Given the description of an element on the screen output the (x, y) to click on. 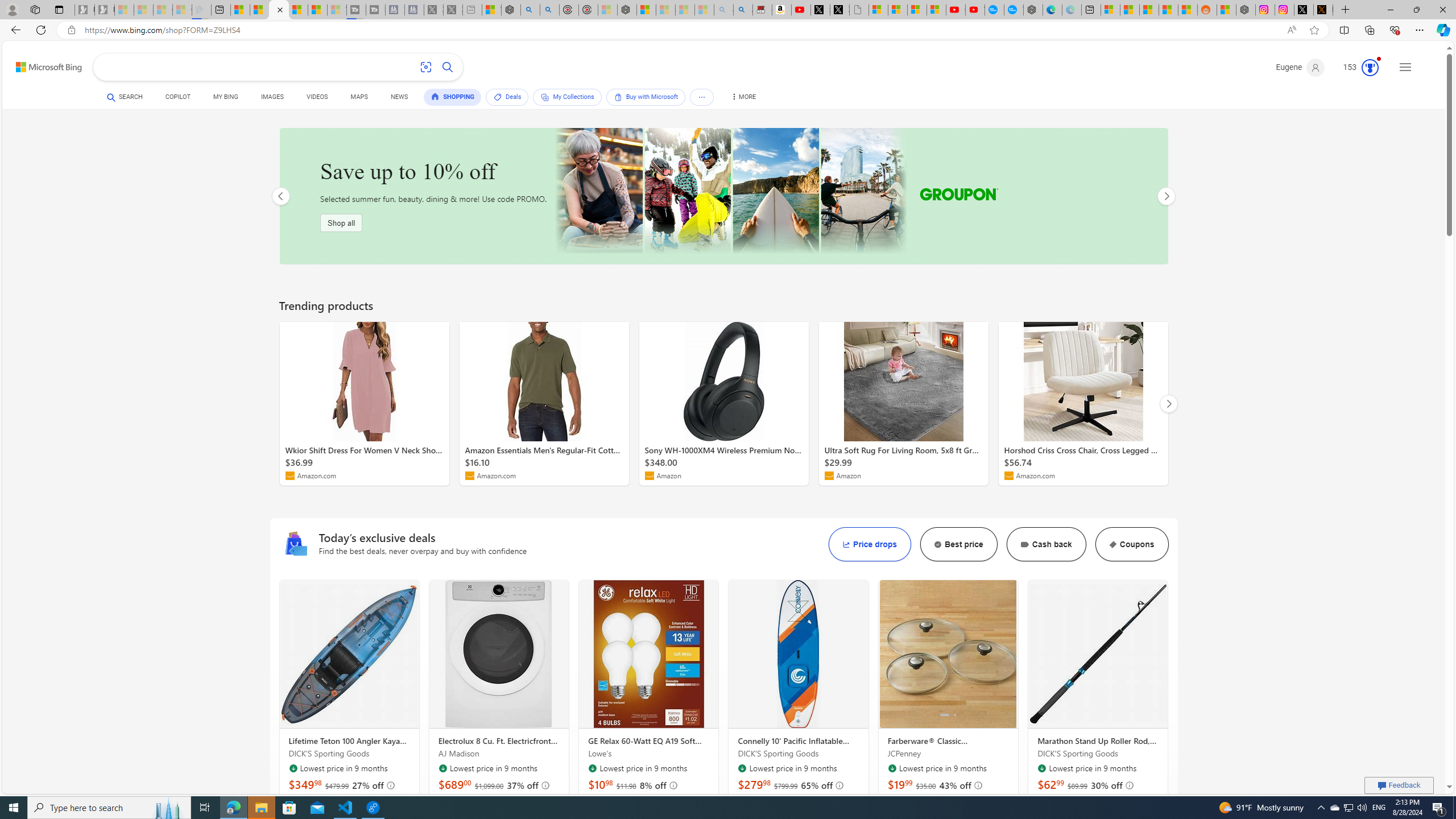
See more (701, 96)
Workspaces (34, 9)
Newsletter Sign Up - Sleeping (104, 9)
Shanghai, China Weather trends | Microsoft Weather (1187, 9)
Read aloud this page (Ctrl+Shift+U) (1291, 29)
Back to Bing search (41, 64)
MORE (742, 98)
Marathon Stand Up Roller Rod, Aluminum (1097, 740)
Day 1: Arriving in Yemen (surreal to be here) - YouTube (800, 9)
X (839, 9)
